Given the description of an element on the screen output the (x, y) to click on. 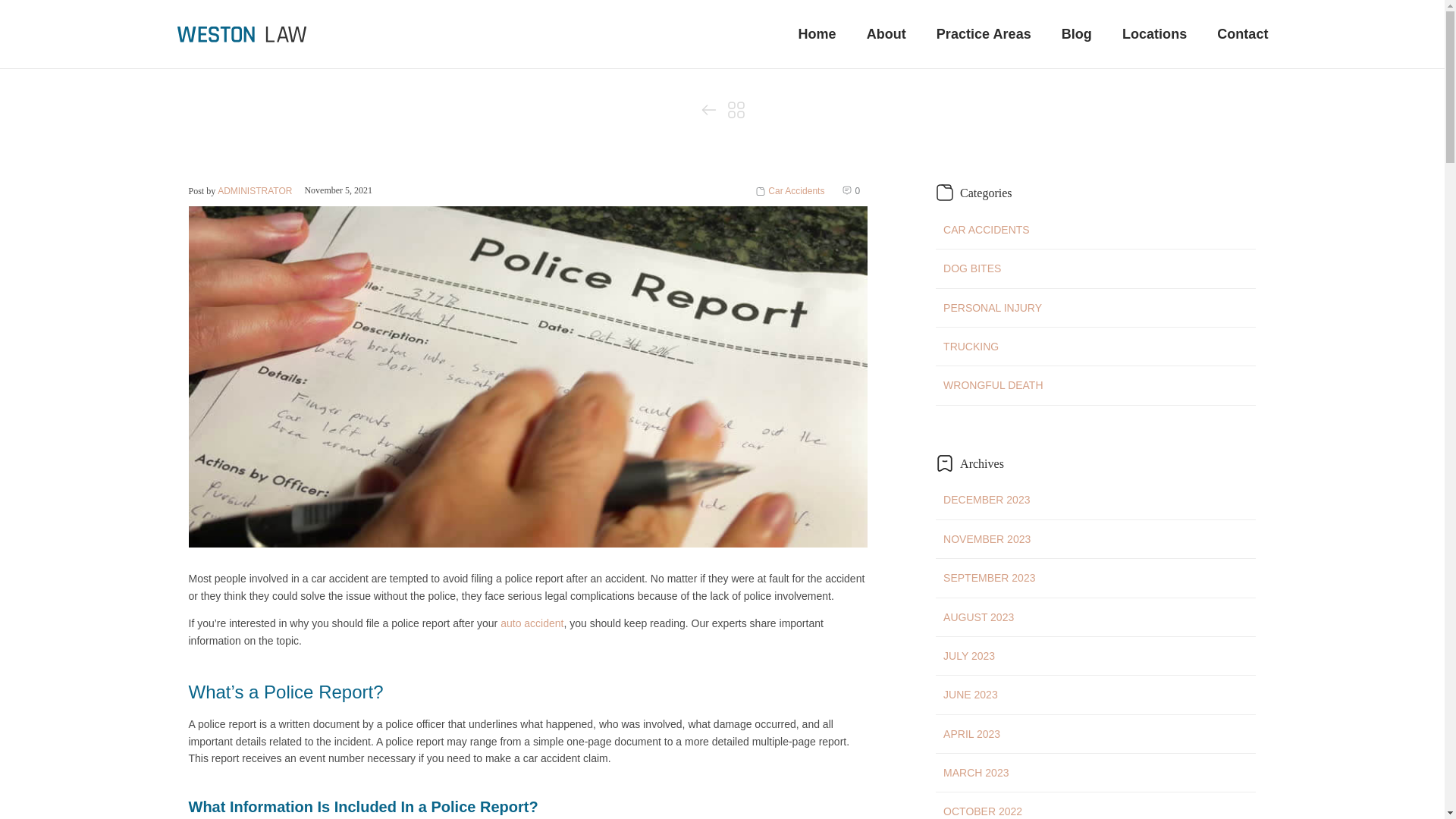
Locations (1154, 33)
Car Accidents (796, 191)
auto accident (531, 623)
ADMINISTRATOR (254, 190)
Practice Areas (983, 33)
